Given the description of an element on the screen output the (x, y) to click on. 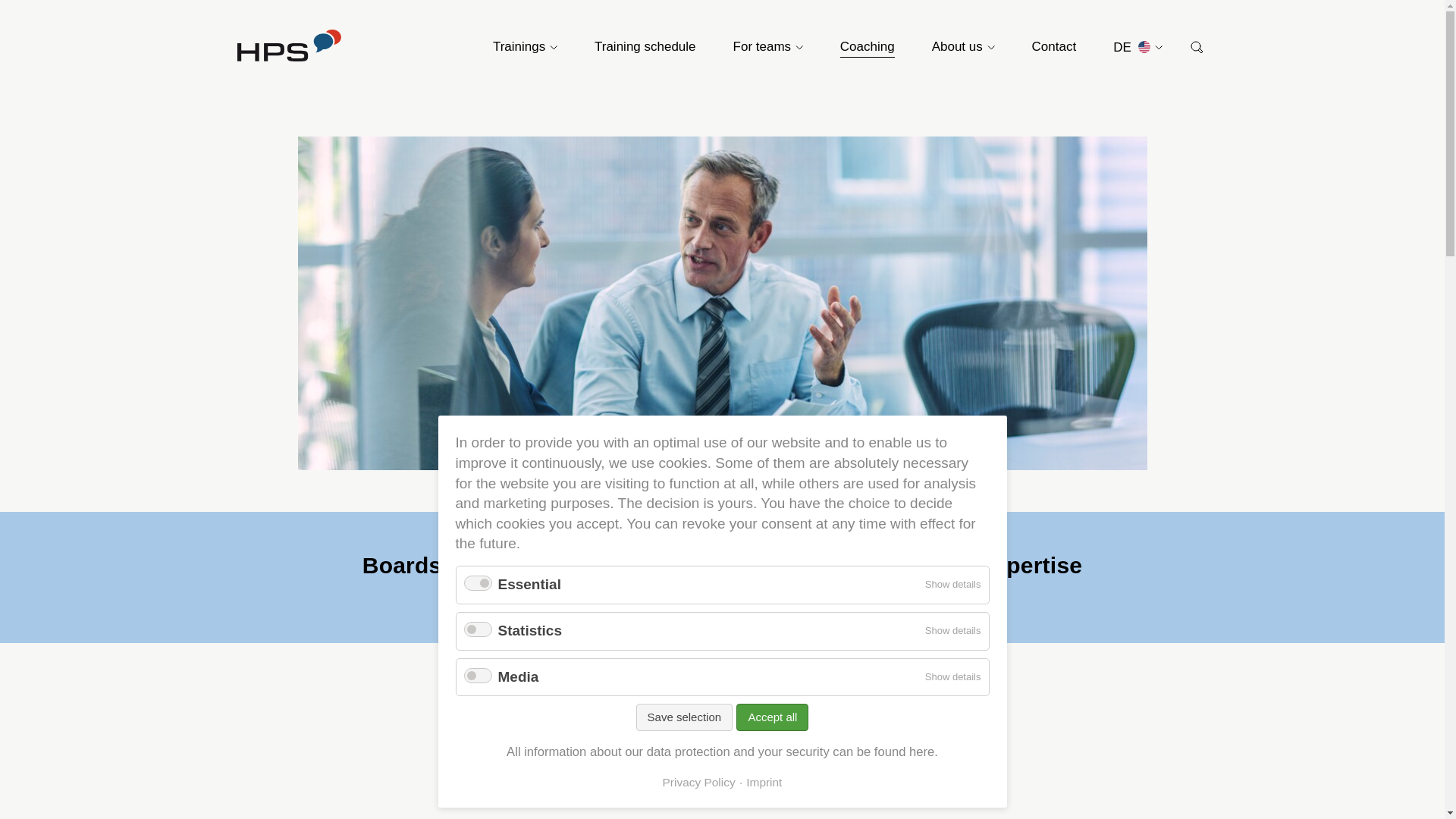
About us (962, 46)
Trainings (525, 46)
About us (962, 46)
For teams (768, 46)
For teams (768, 46)
Training schedule (644, 46)
